Given the description of an element on the screen output the (x, y) to click on. 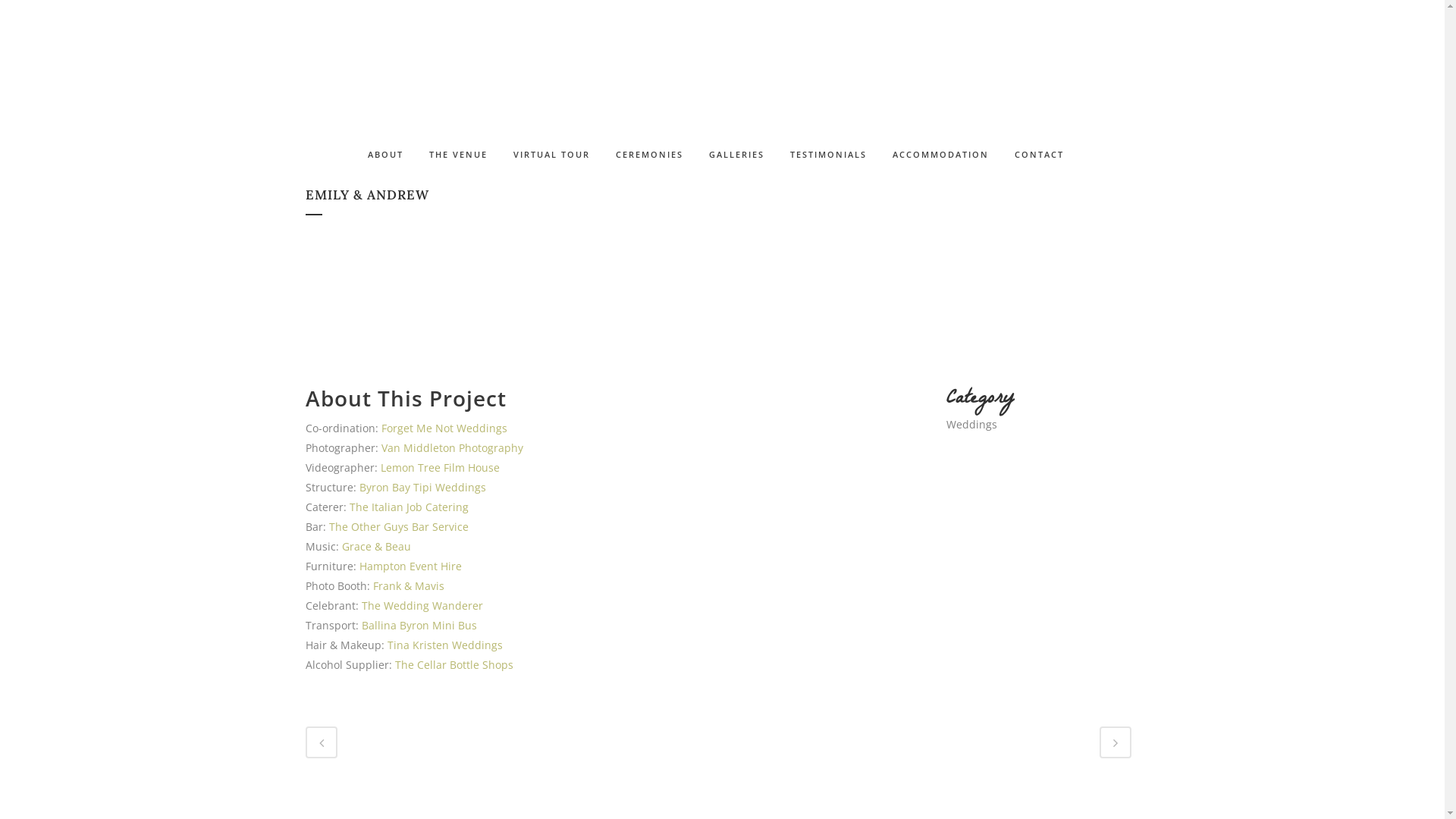
Byron Bay Tipi Weddings Element type: text (422, 487)
Van Middleton Photography Element type: text (451, 447)
Forget Me Not Weddings Element type: text (443, 427)
Ballina Byron Mini Bus Element type: text (418, 625)
THE VENUE Element type: text (458, 154)
ABOUT Element type: text (391, 154)
The Wedding Wanderer Element type: text (421, 605)
Grace & Beau Element type: text (375, 546)
CONTACT Element type: text (1038, 154)
TESTIMONIALS Element type: text (828, 154)
GALLERIES Element type: text (736, 154)
VIRTUAL TOUR Element type: text (551, 154)
CEREMONIES Element type: text (649, 154)
Lemon Tree Film House Element type: text (439, 467)
ACCOMMODATION Element type: text (940, 154)
The Cellar Bottle Shops Element type: text (453, 664)
The Other Guys Bar Service Element type: text (398, 526)
The Italian Job Catering Element type: text (407, 506)
Frank & Mavis Element type: text (408, 585)
Tina Kristen Weddings Element type: text (444, 644)
Hampton Event Hire Element type: text (410, 565)
